Given the description of an element on the screen output the (x, y) to click on. 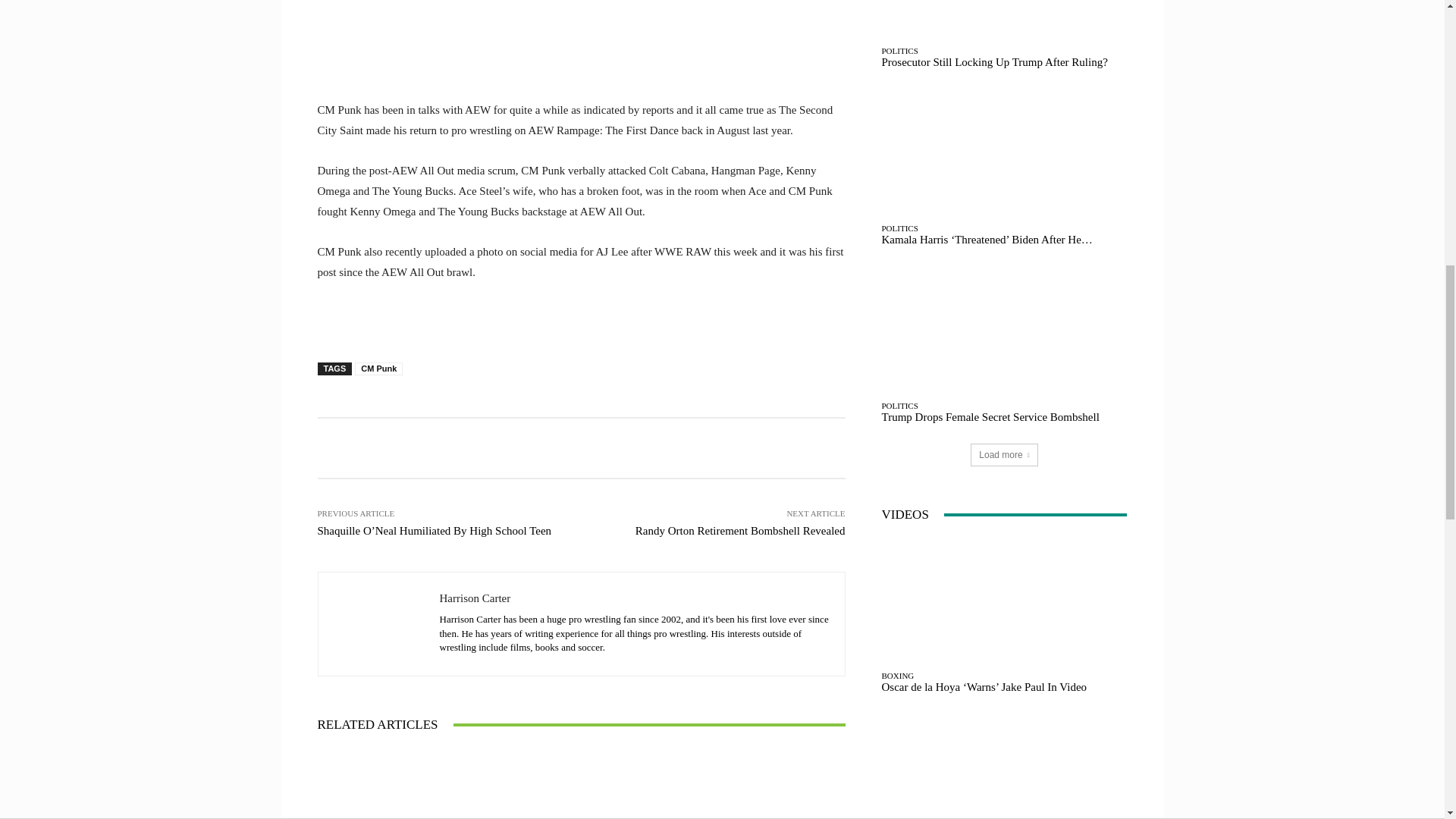
Harrison Carter (379, 624)
Top Democrat Appears To Admit He Forced Biden Out (403, 784)
Kamala Harris Forced To Admit To Lying About Trump (581, 784)
Prosecutor Still Locking Up Trump After Ruling? (758, 784)
